Given the description of an element on the screen output the (x, y) to click on. 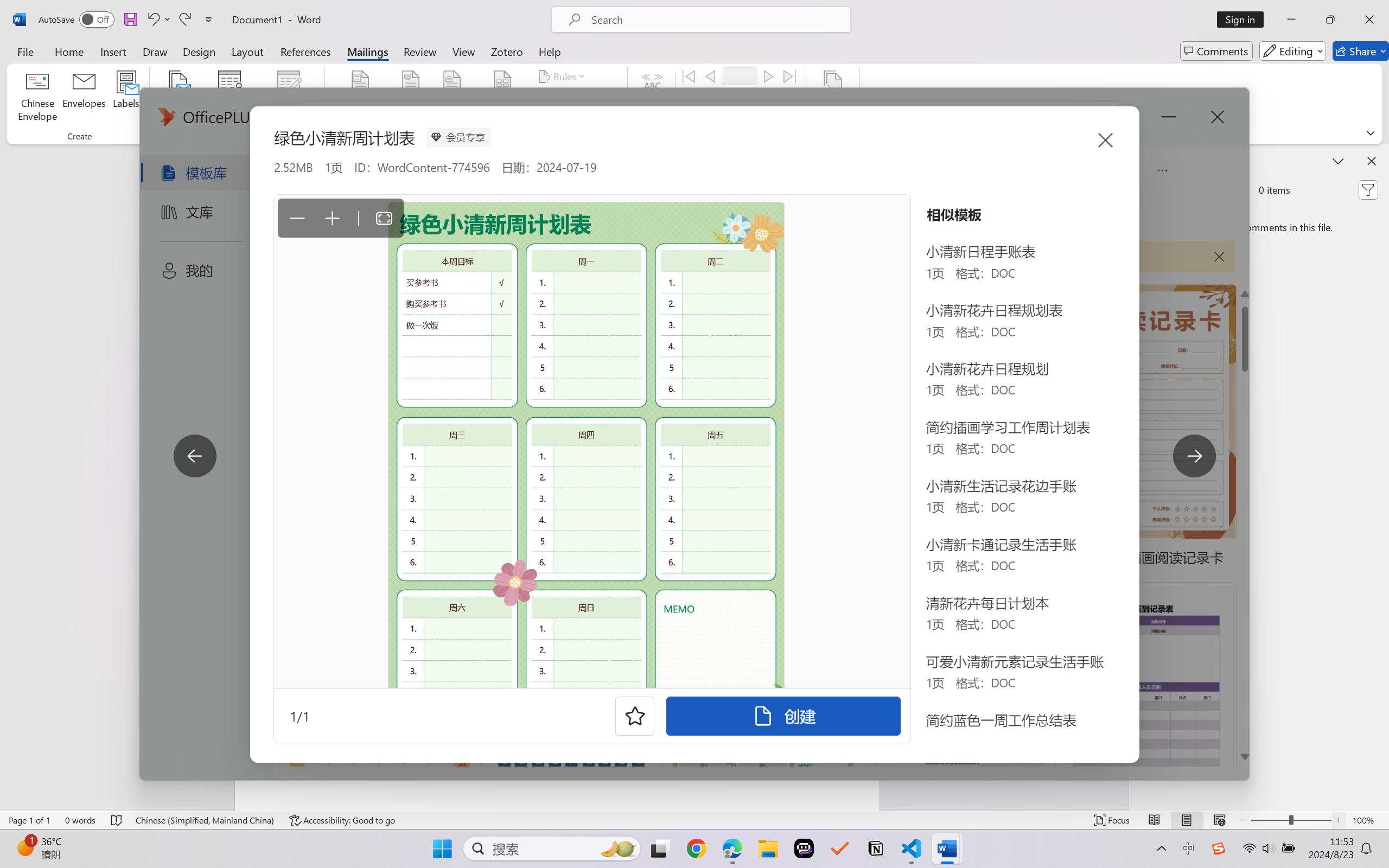
Find Recipient... (723, 97)
Undo Apply Quick Style Set (158, 19)
Preview Results (652, 97)
